Given the description of an element on the screen output the (x, y) to click on. 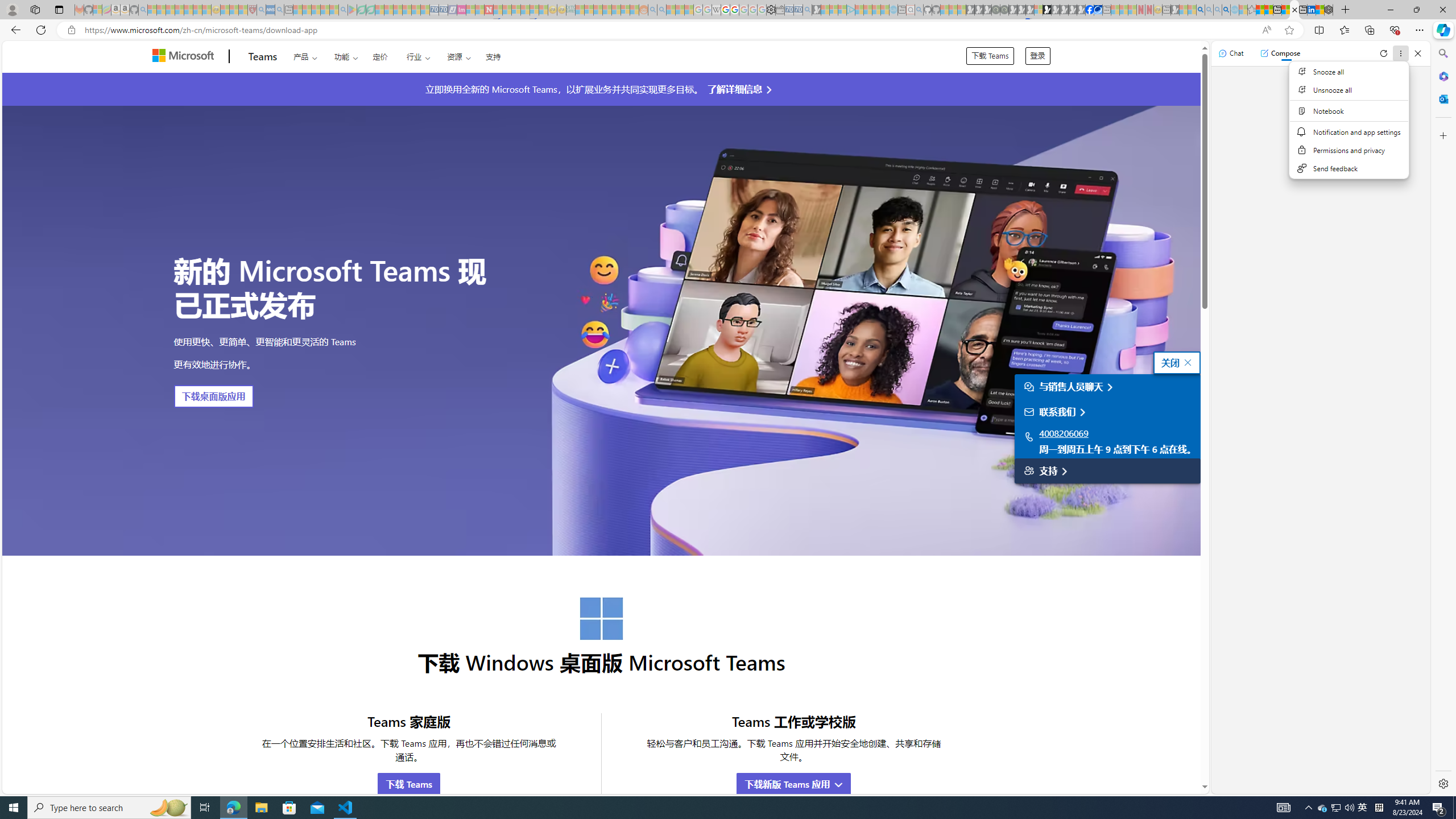
Privacy Help Center - Policies Help (725, 9)
Latest Politics News & Archive | Newsweek.com - Sleeping (488, 9)
Google Chrome Internet Browser Download - Search Images (1225, 9)
Pets - MSN - Sleeping (324, 9)
AQI & Health | AirNow.gov (1098, 9)
Send feedback (1349, 167)
Close Customize pane (1442, 135)
